Given the description of an element on the screen output the (x, y) to click on. 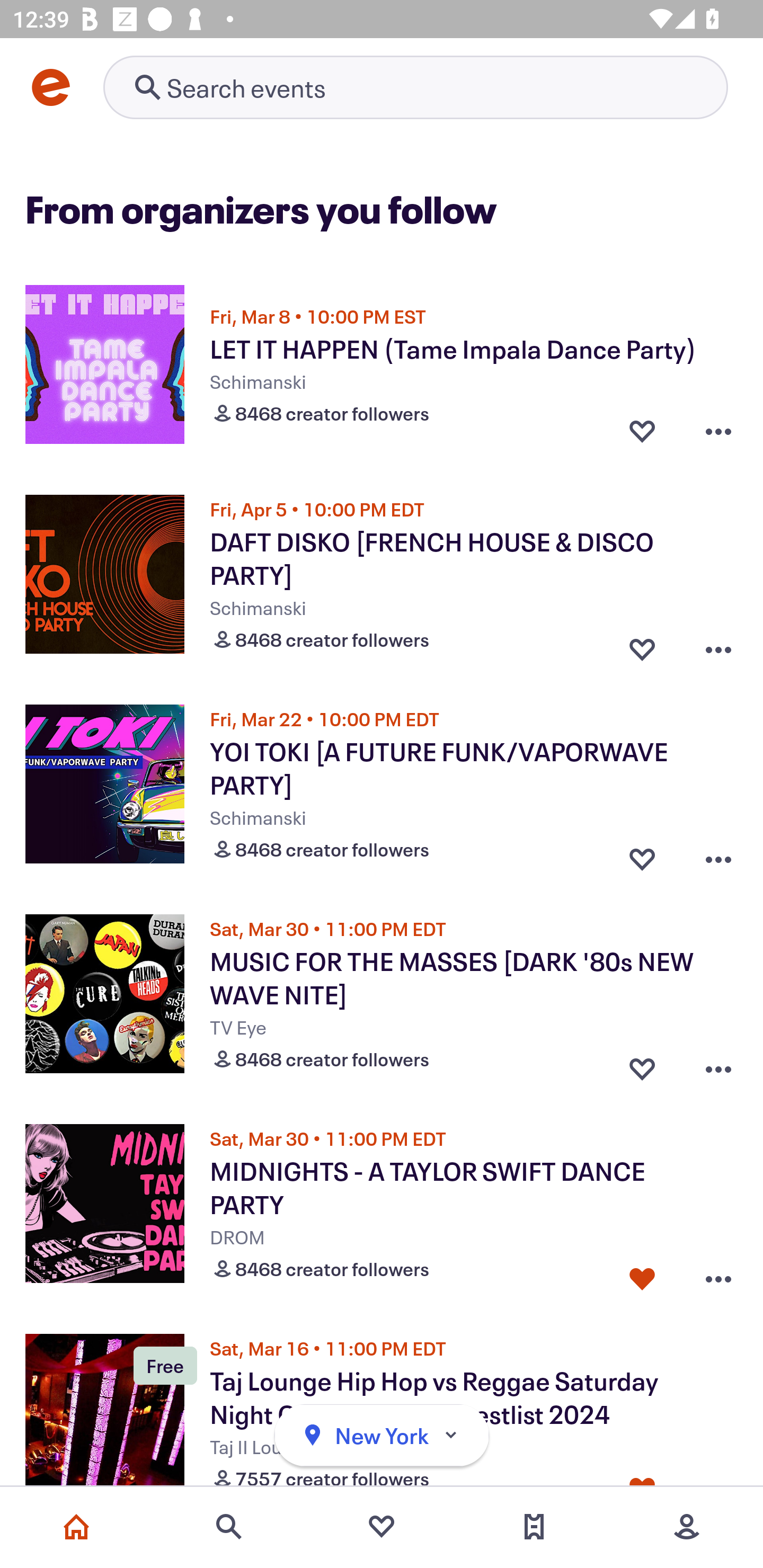
Retry's image Search events (415, 86)
Favorite button (642, 430)
Overflow menu button (718, 430)
Favorite button (642, 644)
Overflow menu button (718, 644)
Favorite button (642, 855)
Overflow menu button (718, 855)
Favorite button (642, 1065)
Overflow menu button (718, 1065)
Favorite button (642, 1274)
Overflow menu button (718, 1274)
New York (381, 1435)
Home (76, 1526)
Search events (228, 1526)
Favorites (381, 1526)
Tickets (533, 1526)
More (686, 1526)
